Given the description of an element on the screen output the (x, y) to click on. 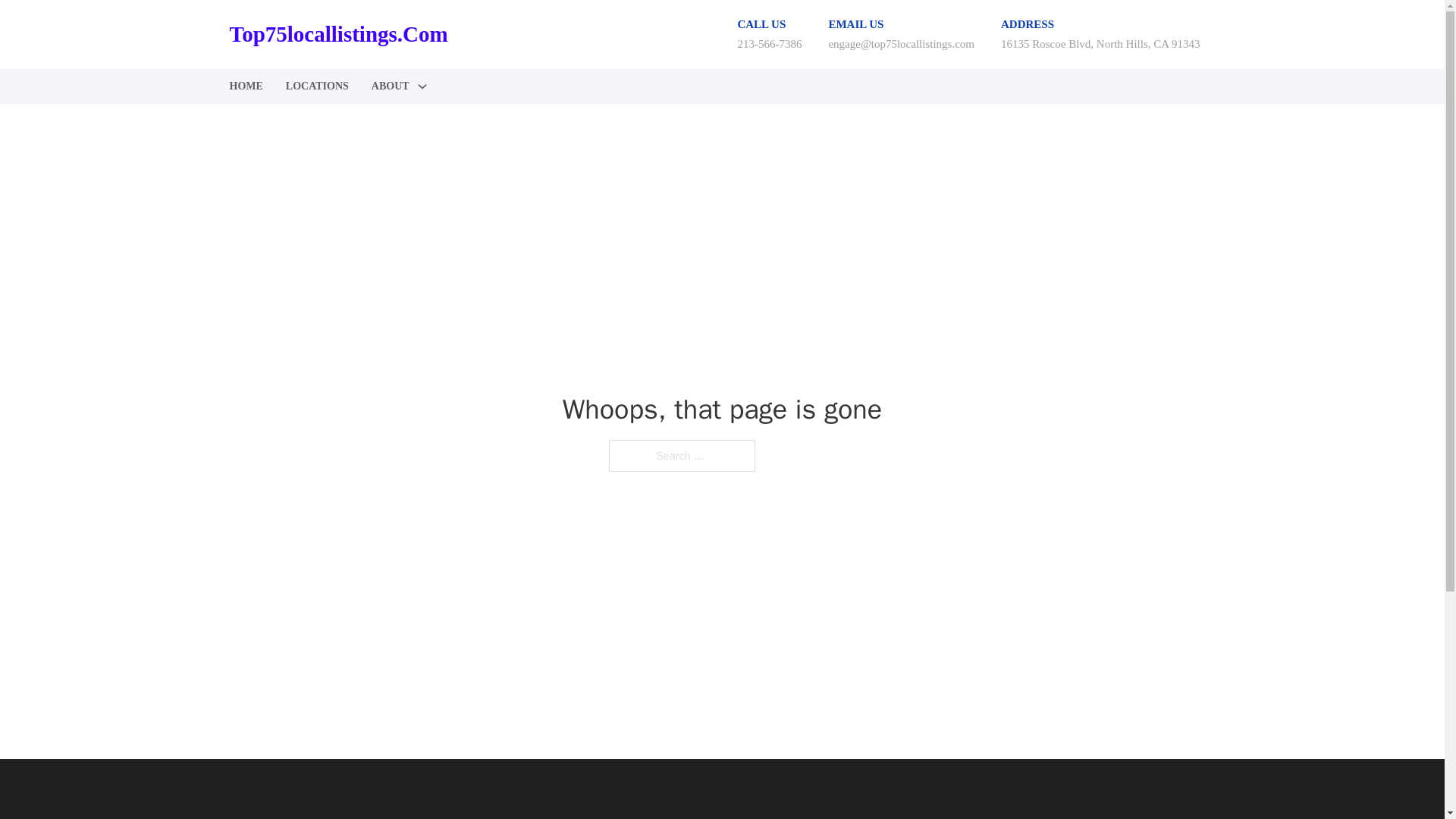
LOCATIONS (317, 85)
Top75locallistings.Com (337, 34)
HOME (245, 85)
213-566-7386 (769, 43)
